Given the description of an element on the screen output the (x, y) to click on. 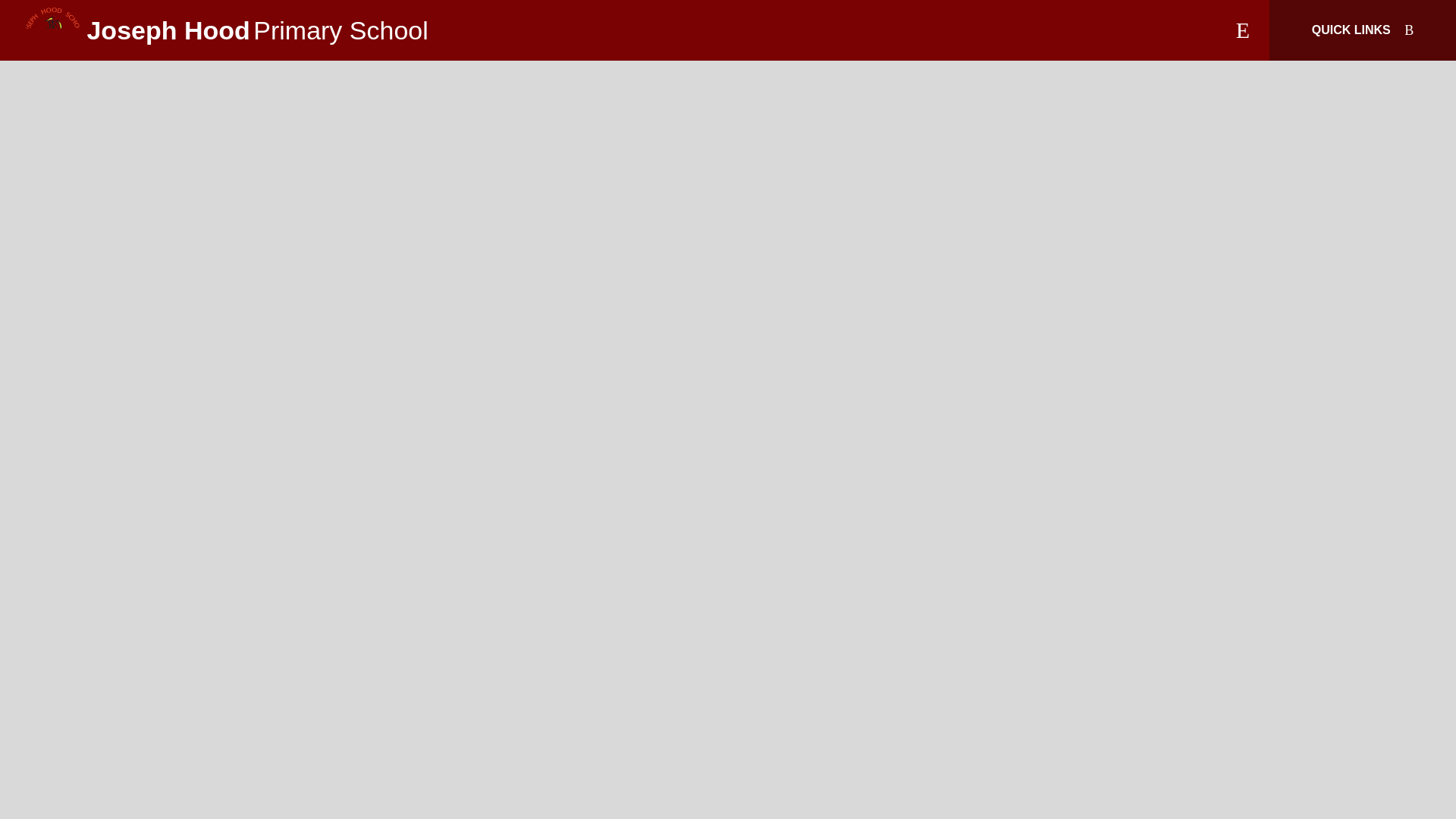
Home Page (52, 30)
Home Page (52, 30)
